Given the description of an element on the screen output the (x, y) to click on. 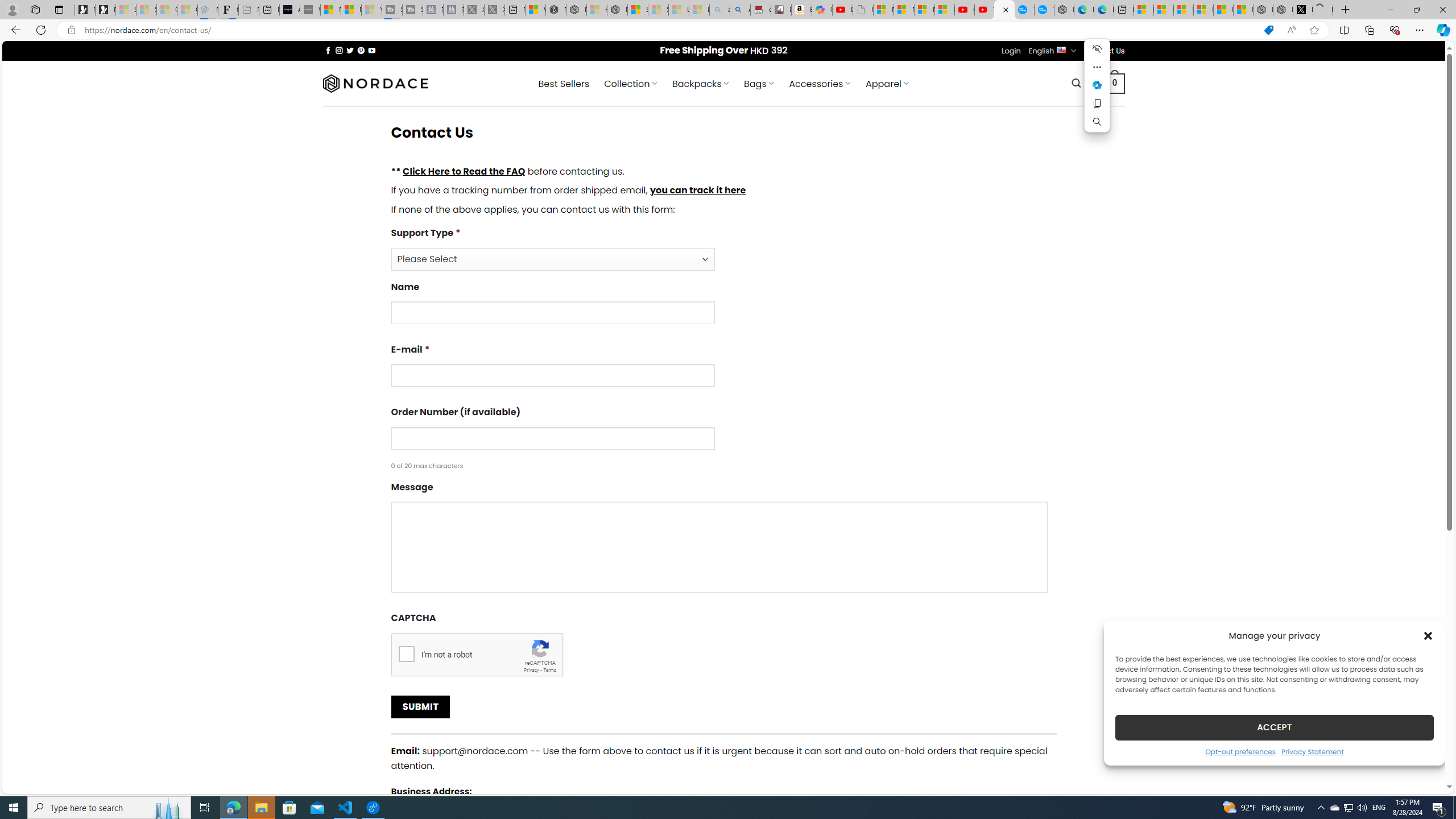
English (1061, 49)
Class: cmplz-close (1428, 635)
AI Voice Changer for PC and Mac - Voice.ai (289, 9)
Ask Copilot (1096, 85)
Nordace - Nordace Siena Is Not An Ordinary Backpack (616, 9)
